Given the description of an element on the screen output the (x, y) to click on. 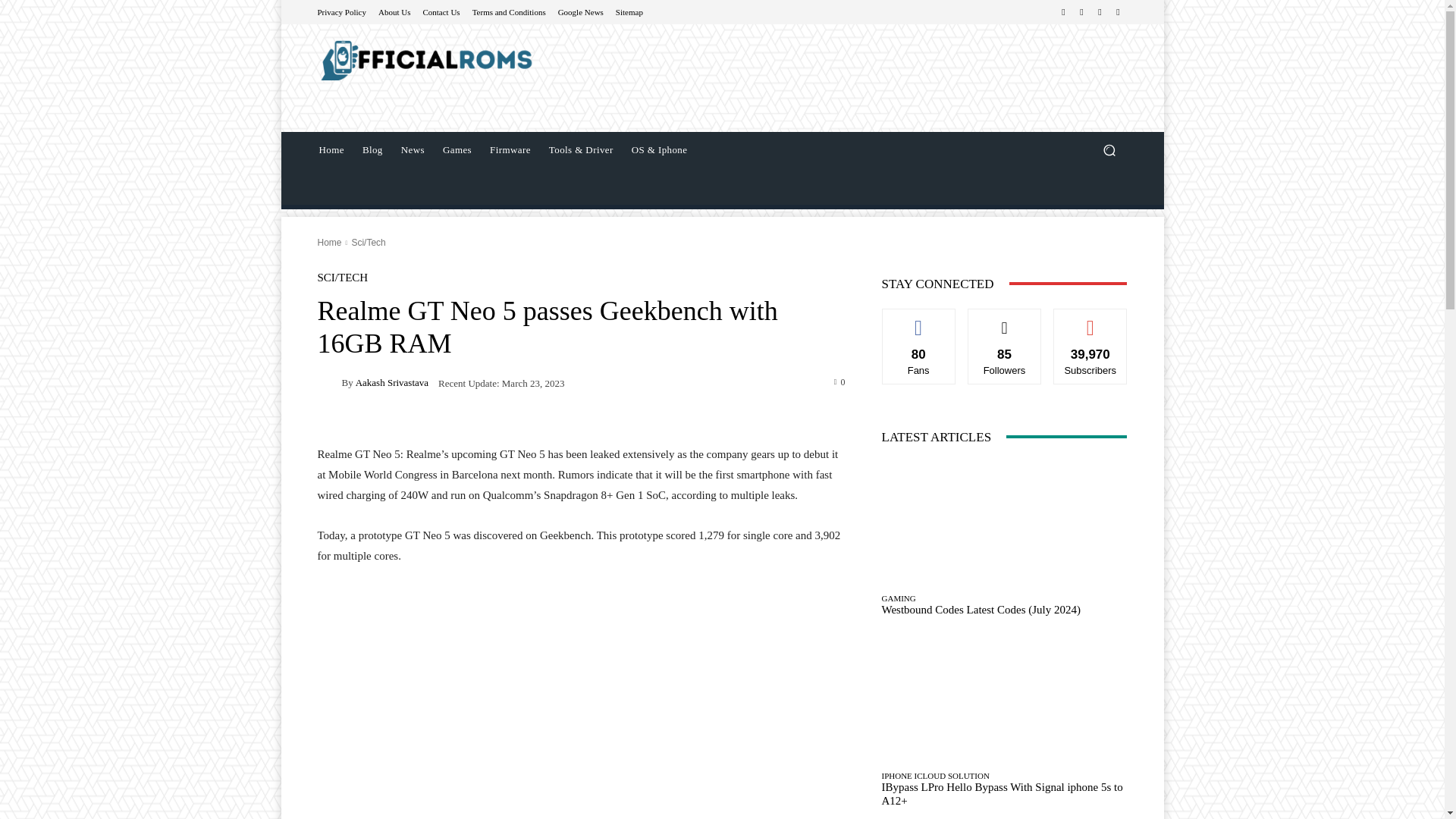
About Us (394, 11)
Instagram (1080, 12)
Home (328, 242)
Games (456, 149)
Privacy Policy (341, 11)
Terms and Conditions (508, 11)
Aakash Srivastava (391, 382)
Home (330, 149)
News (412, 149)
Aakash Srivastava (328, 382)
Blog (372, 149)
Sitemap (629, 11)
Google News (580, 11)
Youtube (1117, 12)
Twitter (1099, 12)
